Given the description of an element on the screen output the (x, y) to click on. 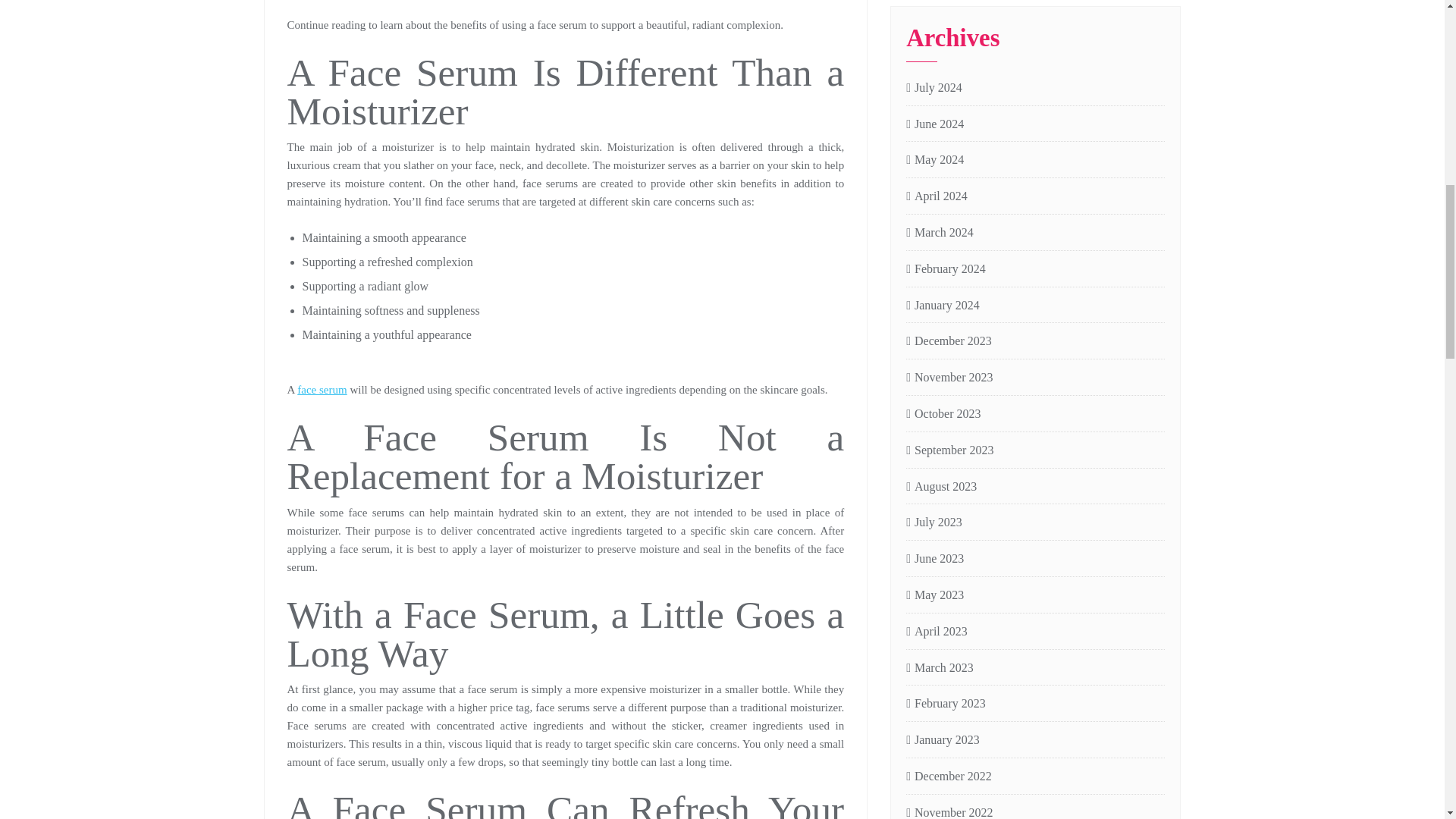
November 2023 (948, 377)
face serum (321, 389)
September 2023 (948, 450)
January 2023 (942, 740)
March 2024 (939, 232)
January 2024 (942, 305)
February 2024 (945, 269)
October 2023 (942, 414)
June 2024 (934, 124)
December 2023 (948, 341)
June 2023 (934, 558)
August 2023 (940, 486)
May 2023 (934, 595)
December 2022 (948, 776)
May 2024 (934, 160)
